Given the description of an element on the screen output the (x, y) to click on. 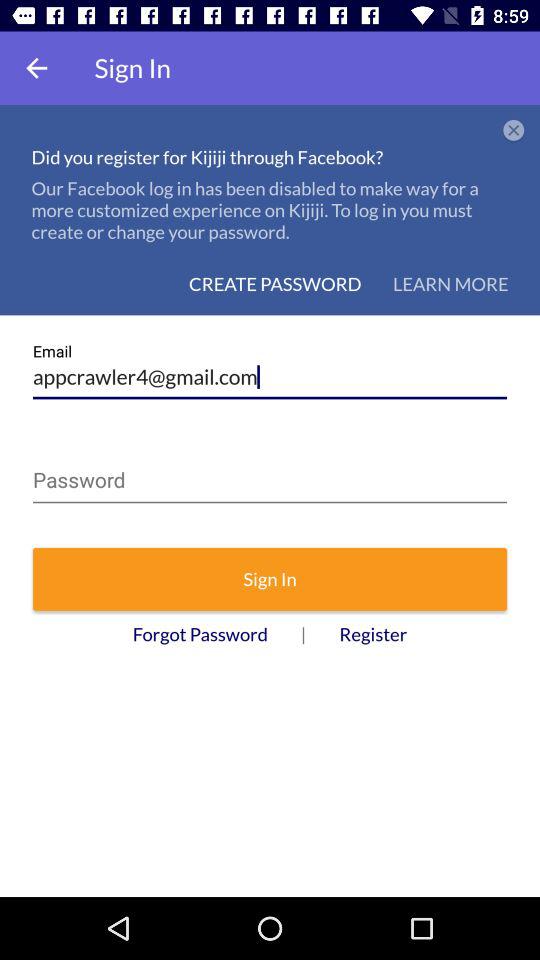
tap the forgot password (199, 633)
